Given the description of an element on the screen output the (x, y) to click on. 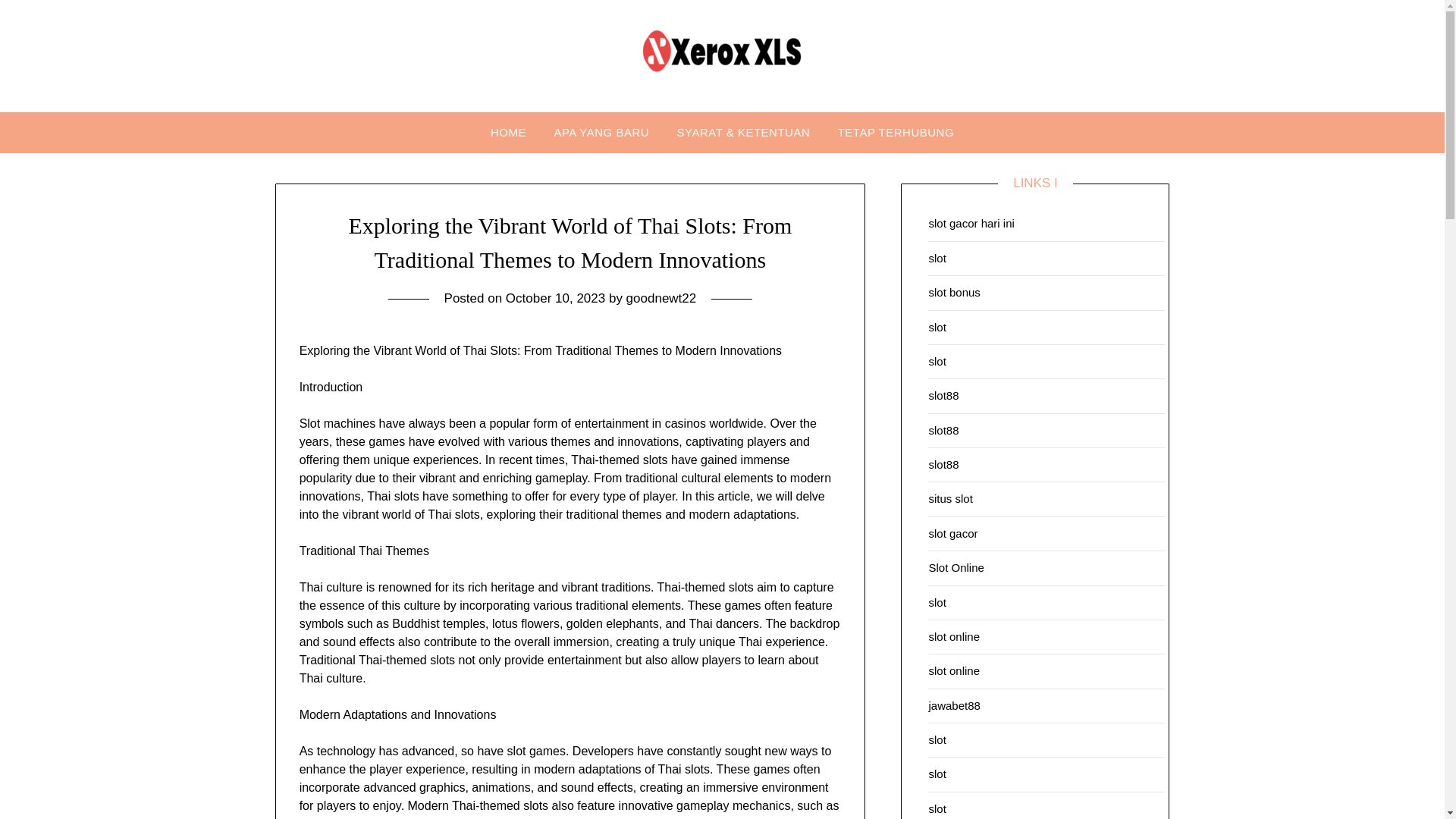
slot (936, 602)
slot gacor hari ini (970, 223)
HOME (508, 132)
slot88 (943, 395)
APA YANG BARU (601, 132)
slot (936, 739)
slot (936, 257)
slot (936, 808)
slot online (953, 635)
October 10, 2023 (555, 298)
